Given the description of an element on the screen output the (x, y) to click on. 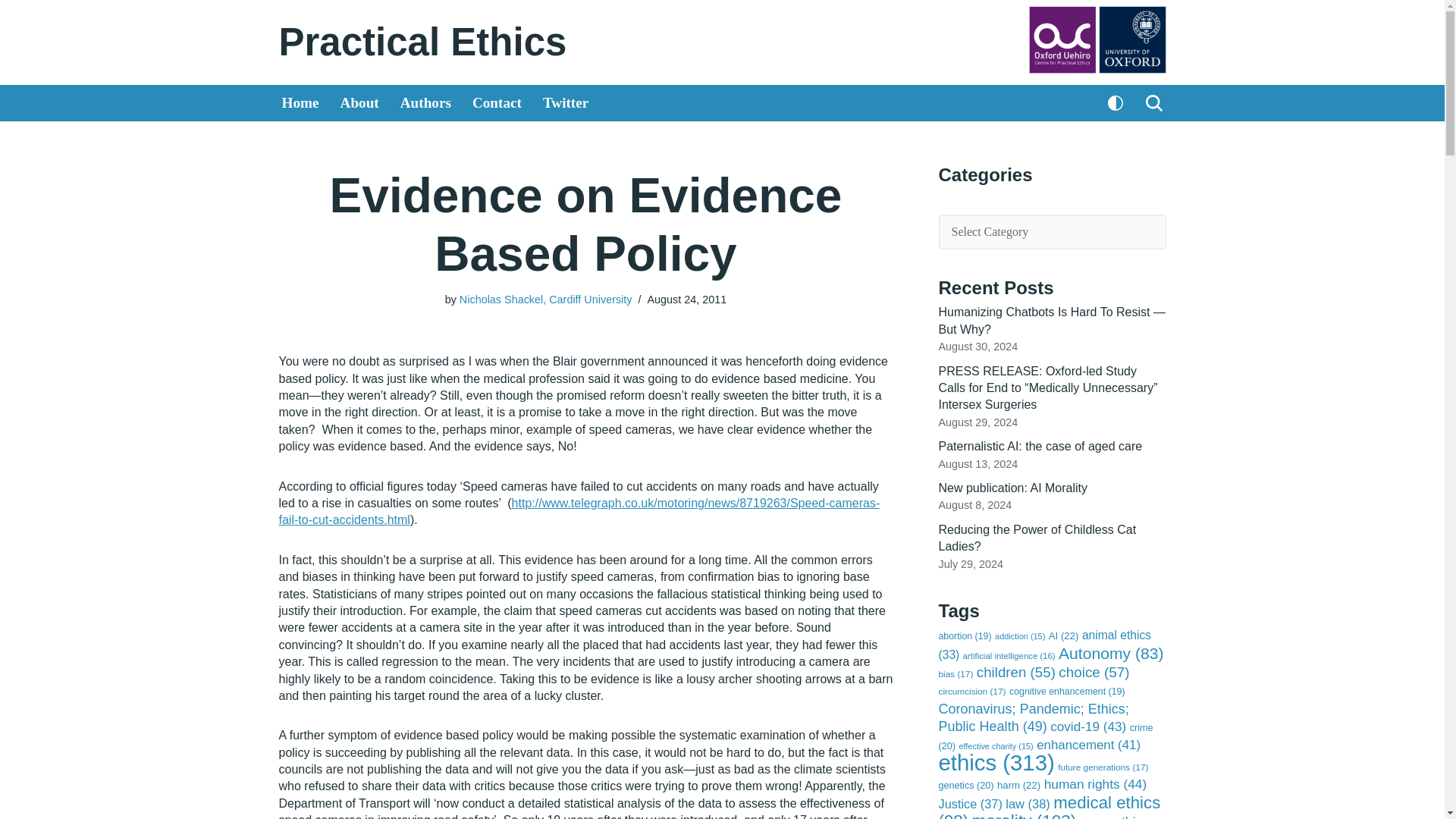
Contact (496, 102)
Practical Ethics (423, 41)
Posts by Nicholas Shackel, Cardiff University (545, 299)
About (359, 102)
Twitter (565, 102)
Skip to content (11, 31)
Home (300, 102)
Nicholas Shackel, Cardiff University (545, 299)
Authors (425, 102)
